Given the description of an element on the screen output the (x, y) to click on. 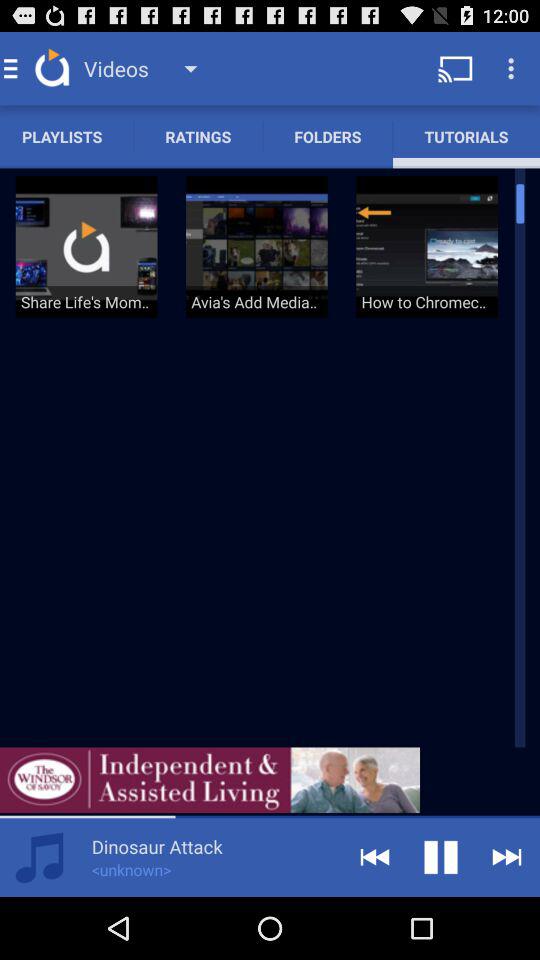
open advertisement (210, 780)
